Given the description of an element on the screen output the (x, y) to click on. 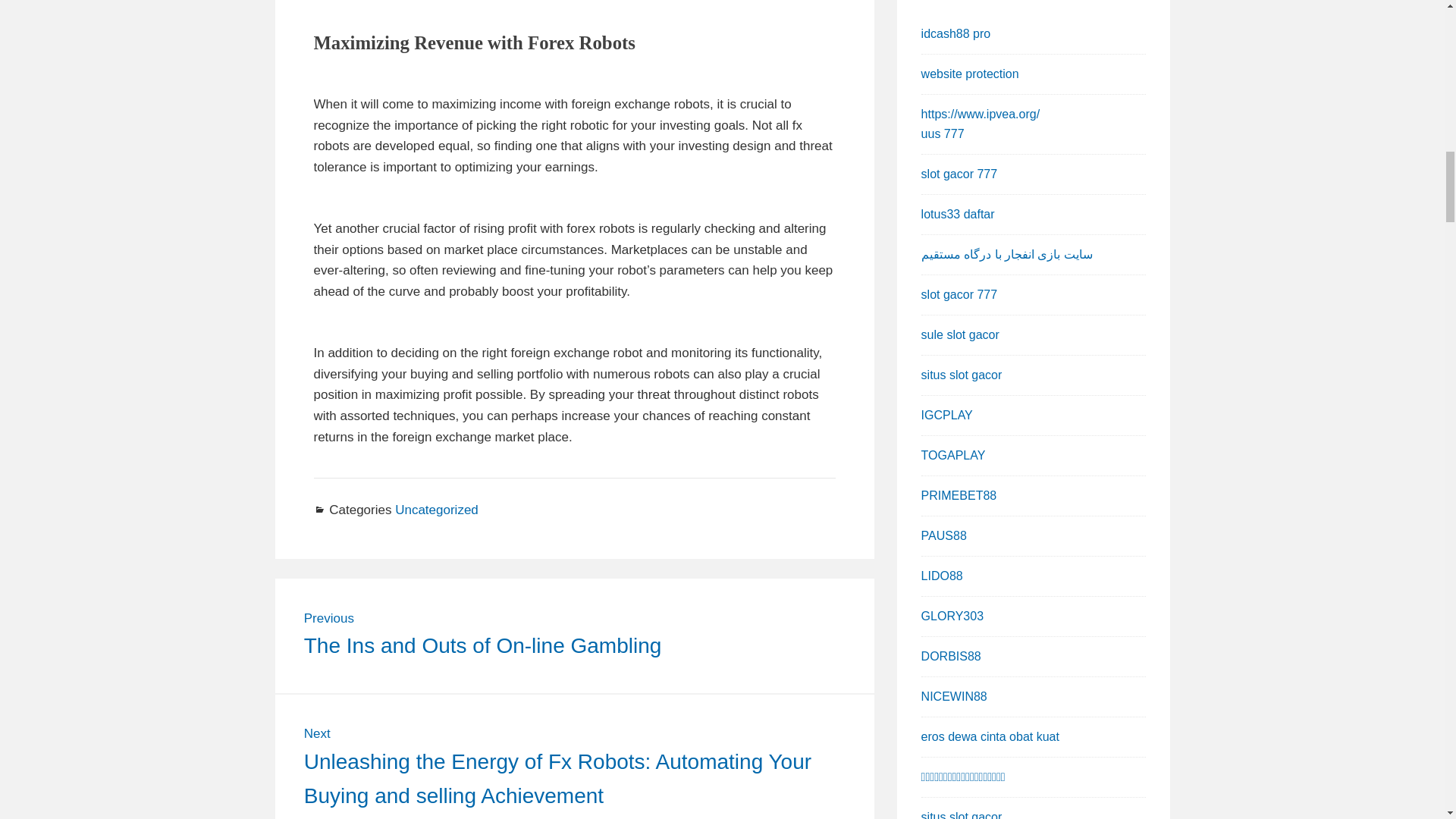
Uncategorized (436, 509)
